Given the description of an element on the screen output the (x, y) to click on. 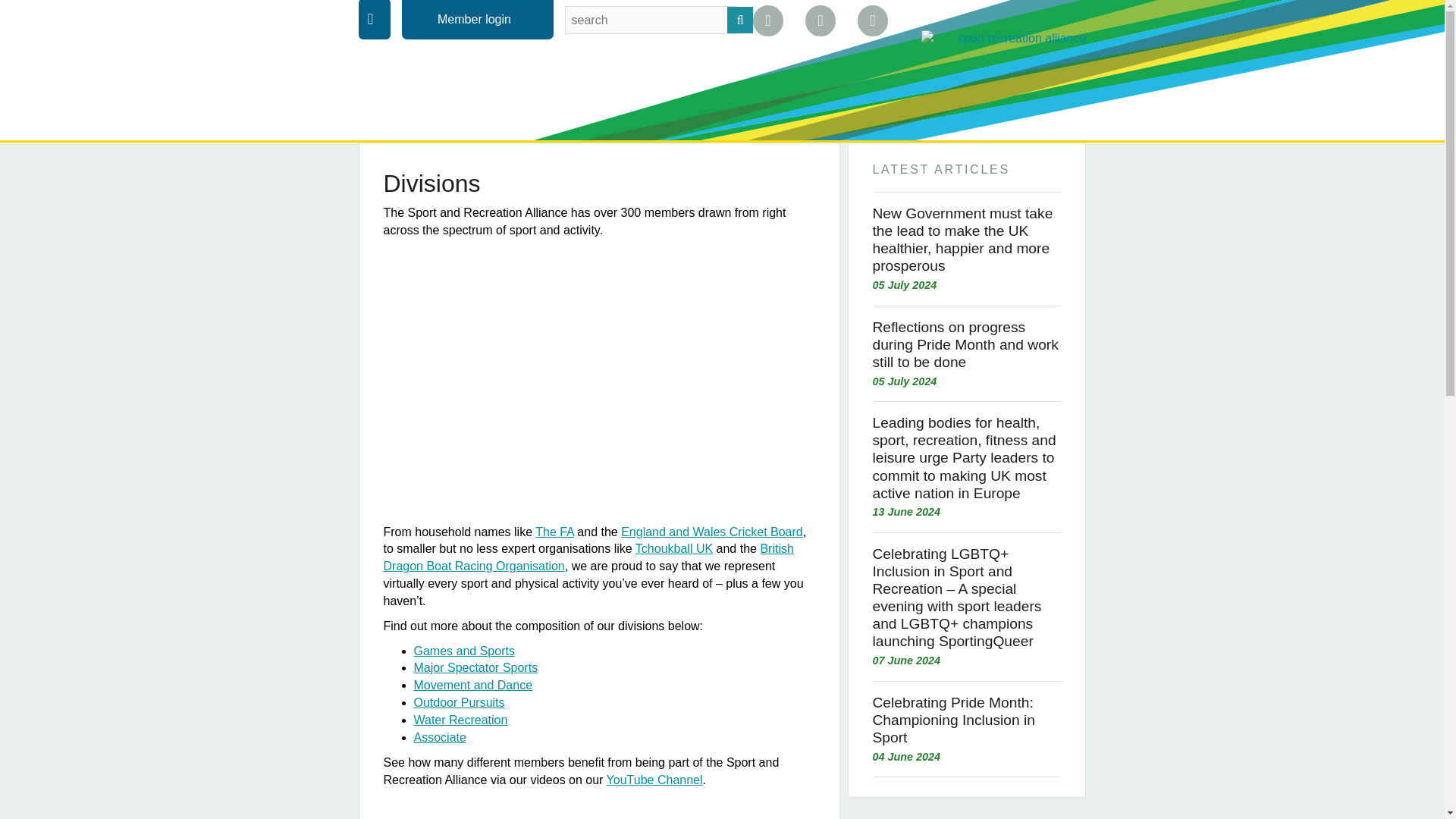
Member login (476, 18)
